Given the description of an element on the screen output the (x, y) to click on. 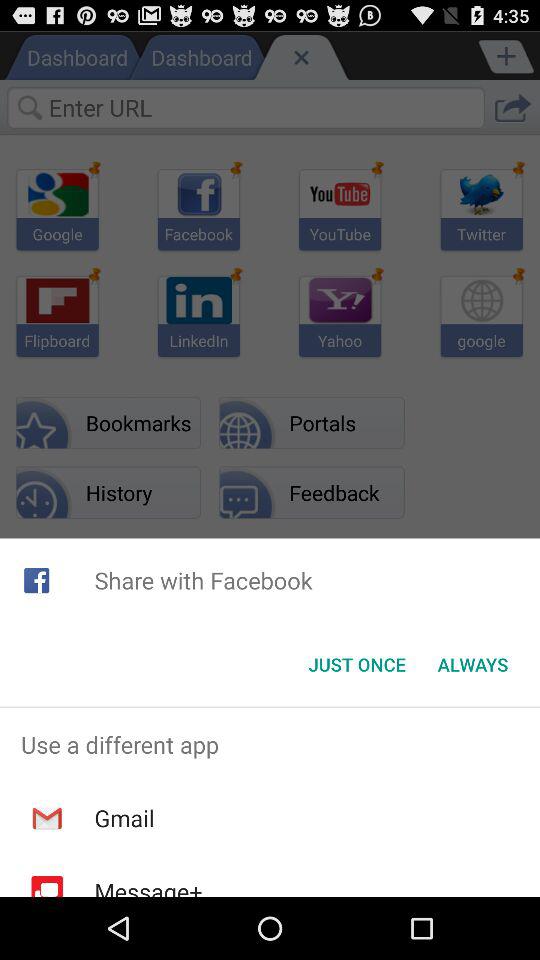
launch the item below the share with facebook (356, 664)
